Given the description of an element on the screen output the (x, y) to click on. 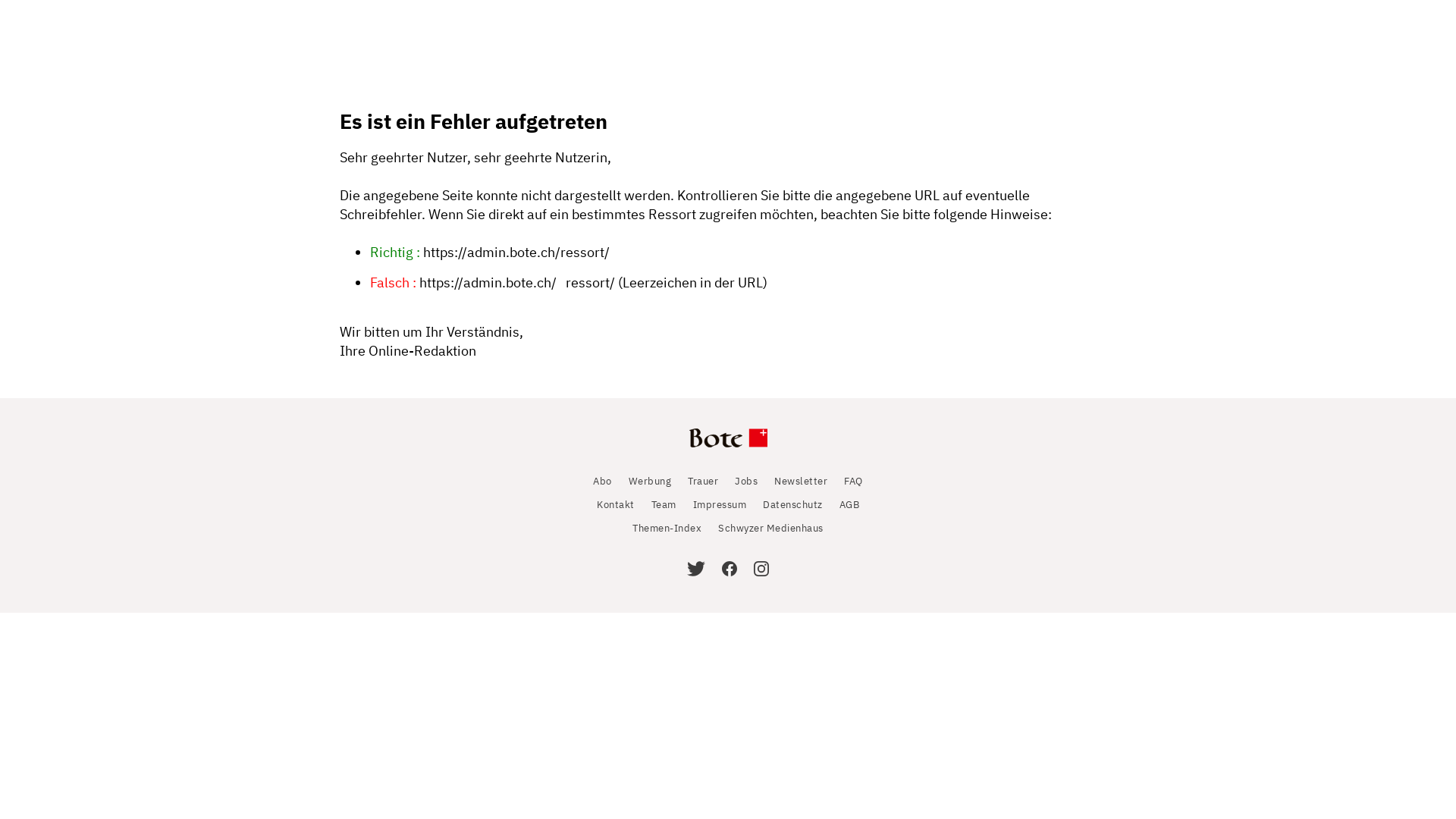
Newsletter Element type: text (800, 480)
Werbung Element type: text (649, 480)
FAQ Element type: text (853, 480)
Bote der Urschweiz AG Element type: hover (727, 447)
Kontakt Element type: text (615, 504)
Abo Element type: text (602, 480)
Datenschutz Element type: text (792, 504)
Impressum Element type: text (719, 504)
AGB Element type: text (848, 504)
Themen-Index Element type: text (666, 527)
Schwyzer Medienhaus Element type: text (770, 527)
Jobs Element type: text (745, 480)
Trauer Element type: text (702, 480)
Team Element type: text (662, 504)
